Given the description of an element on the screen output the (x, y) to click on. 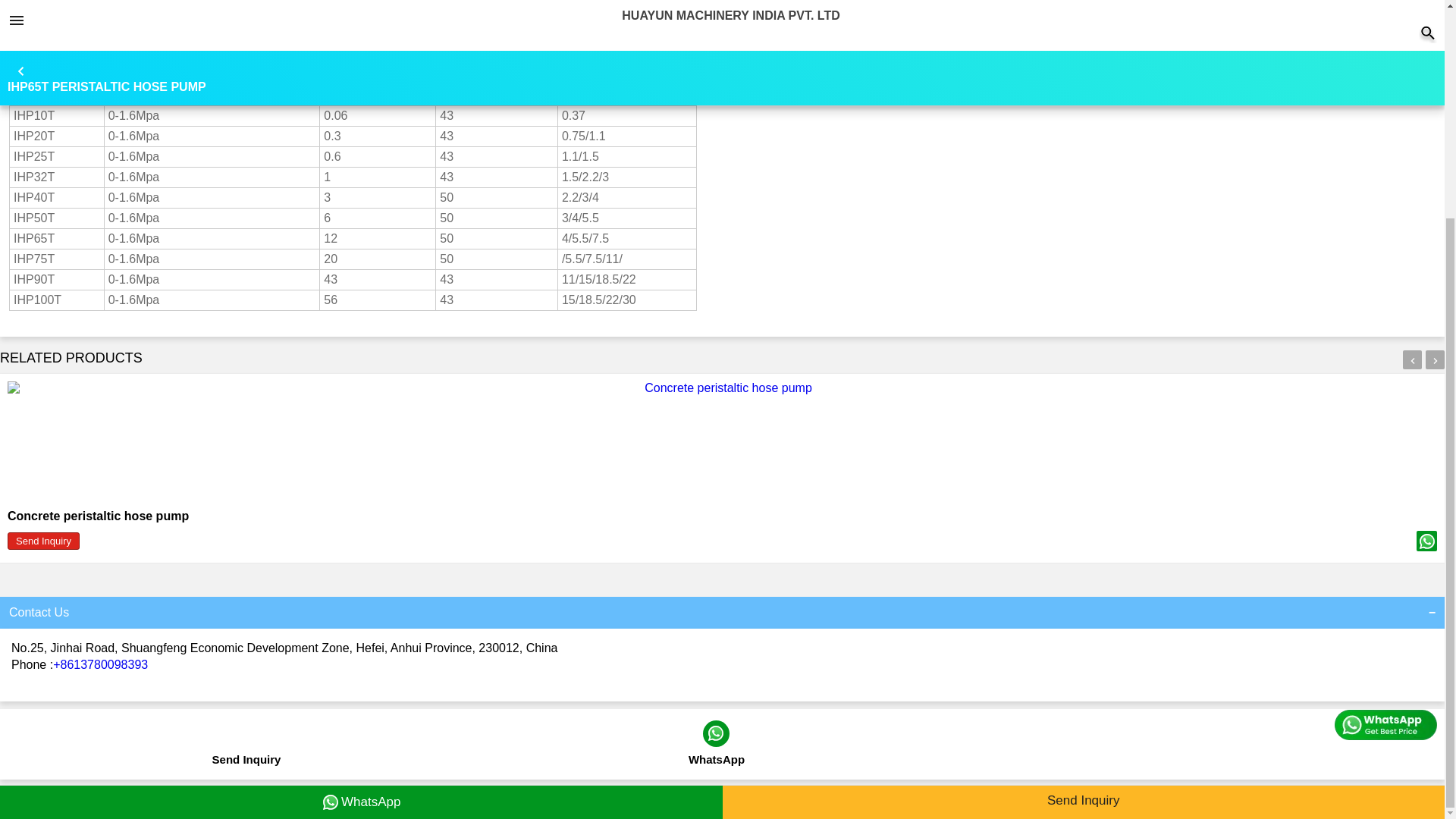
WhatsApp (361, 513)
Concrete peristaltic hose pump (98, 515)
Send Inquiry (43, 540)
Send Inquiry (246, 752)
WhatsApp (716, 752)
